Given the description of an element on the screen output the (x, y) to click on. 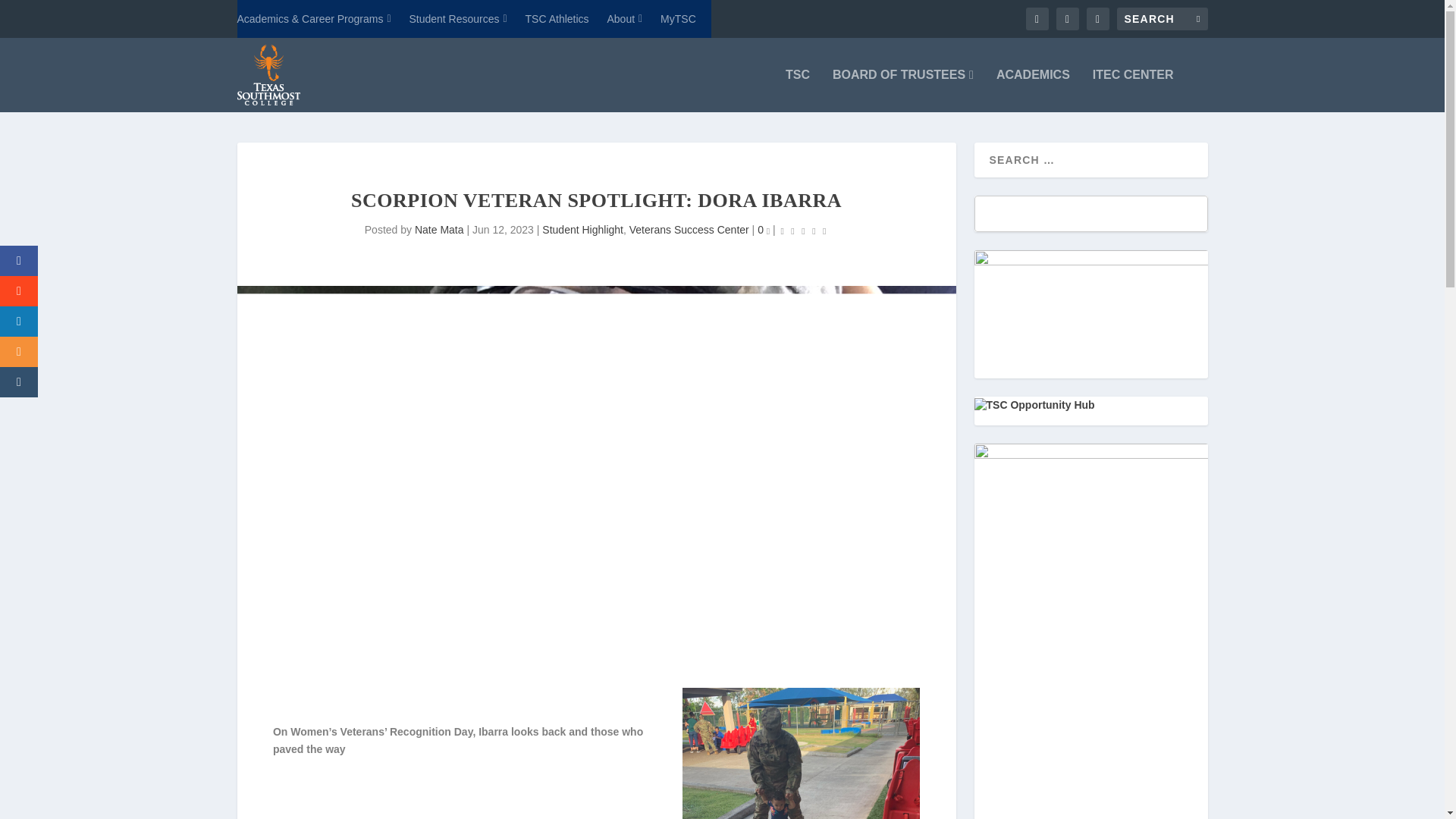
Rating: 5.00 (803, 230)
TSC Athletics (557, 18)
Student Resources (457, 18)
Search for: (1161, 18)
About (624, 18)
MyTSC (678, 18)
Posts by Nate Mata (439, 229)
